Given the description of an element on the screen output the (x, y) to click on. 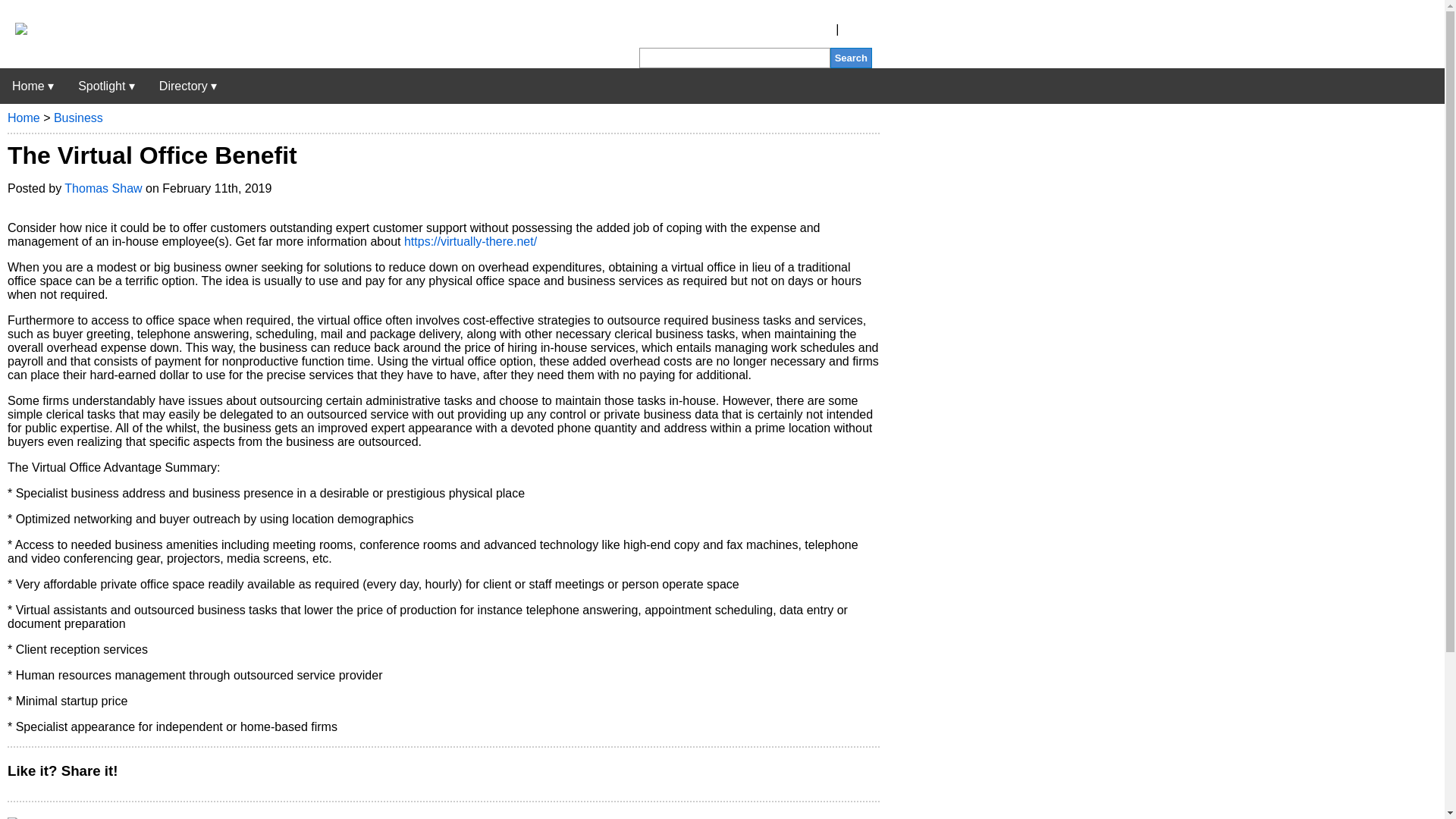
Uberant (32, 85)
Register (809, 29)
Uberant (13, 30)
Search (850, 57)
Search (850, 57)
Login (857, 29)
